Given the description of an element on the screen output the (x, y) to click on. 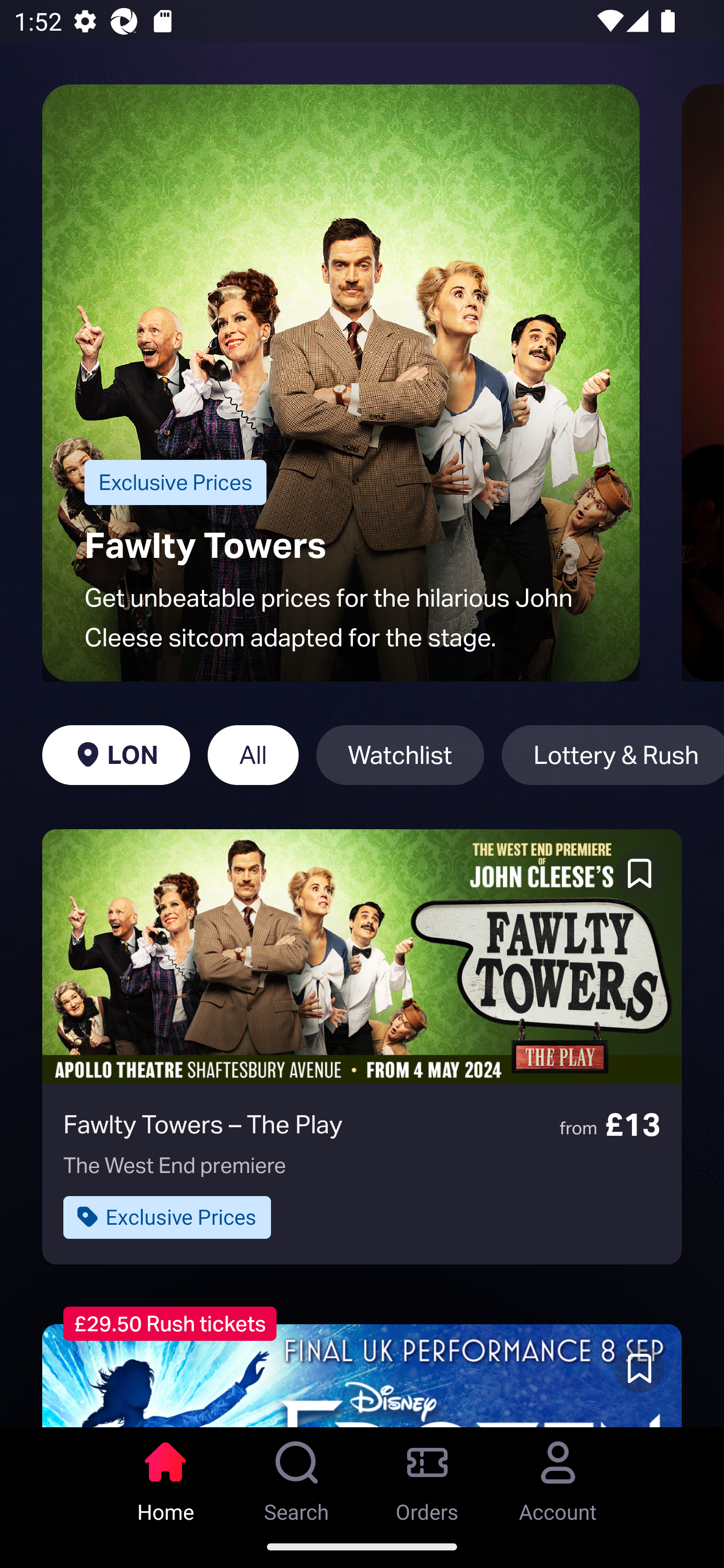
LON (115, 754)
All (252, 754)
Watchlist (400, 754)
Lottery & Rush (612, 754)
Search (296, 1475)
Orders (427, 1475)
Account (558, 1475)
